Given the description of an element on the screen output the (x, y) to click on. 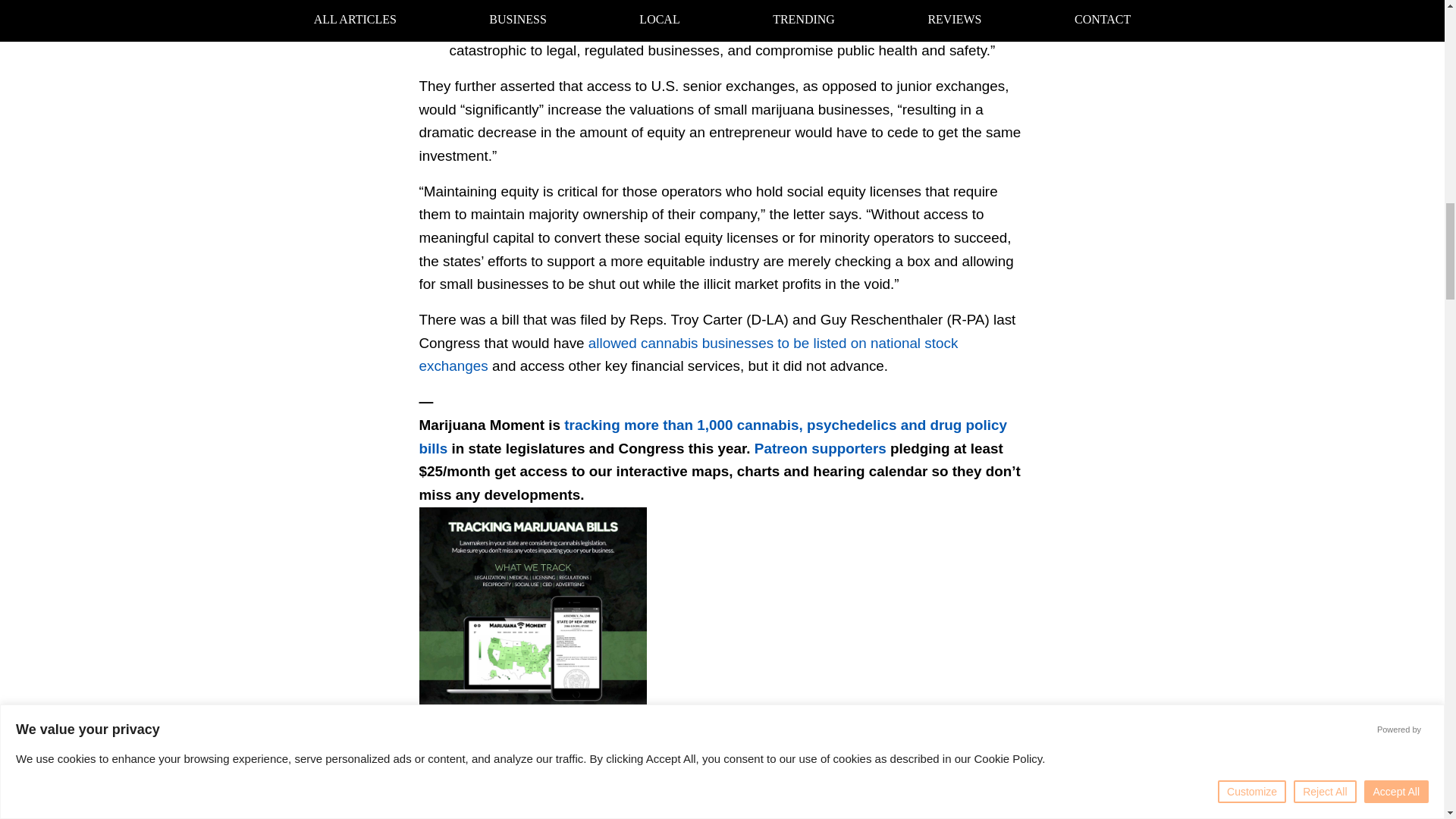
marijuana bill tracker (642, 745)
Patreon supporters (820, 447)
supporter on Patreon (890, 745)
